Given the description of an element on the screen output the (x, y) to click on. 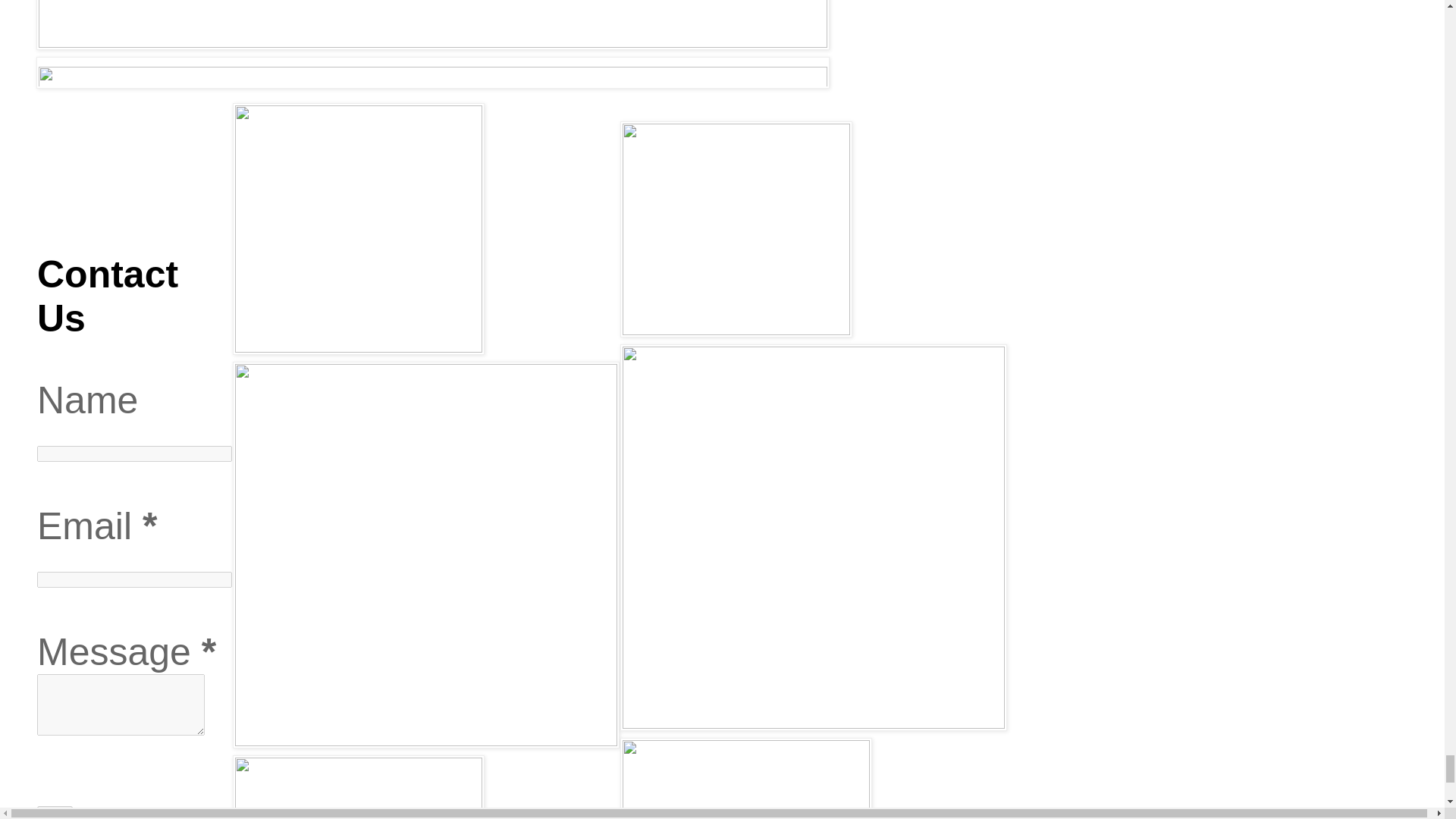
Send (54, 812)
